Given the description of an element on the screen output the (x, y) to click on. 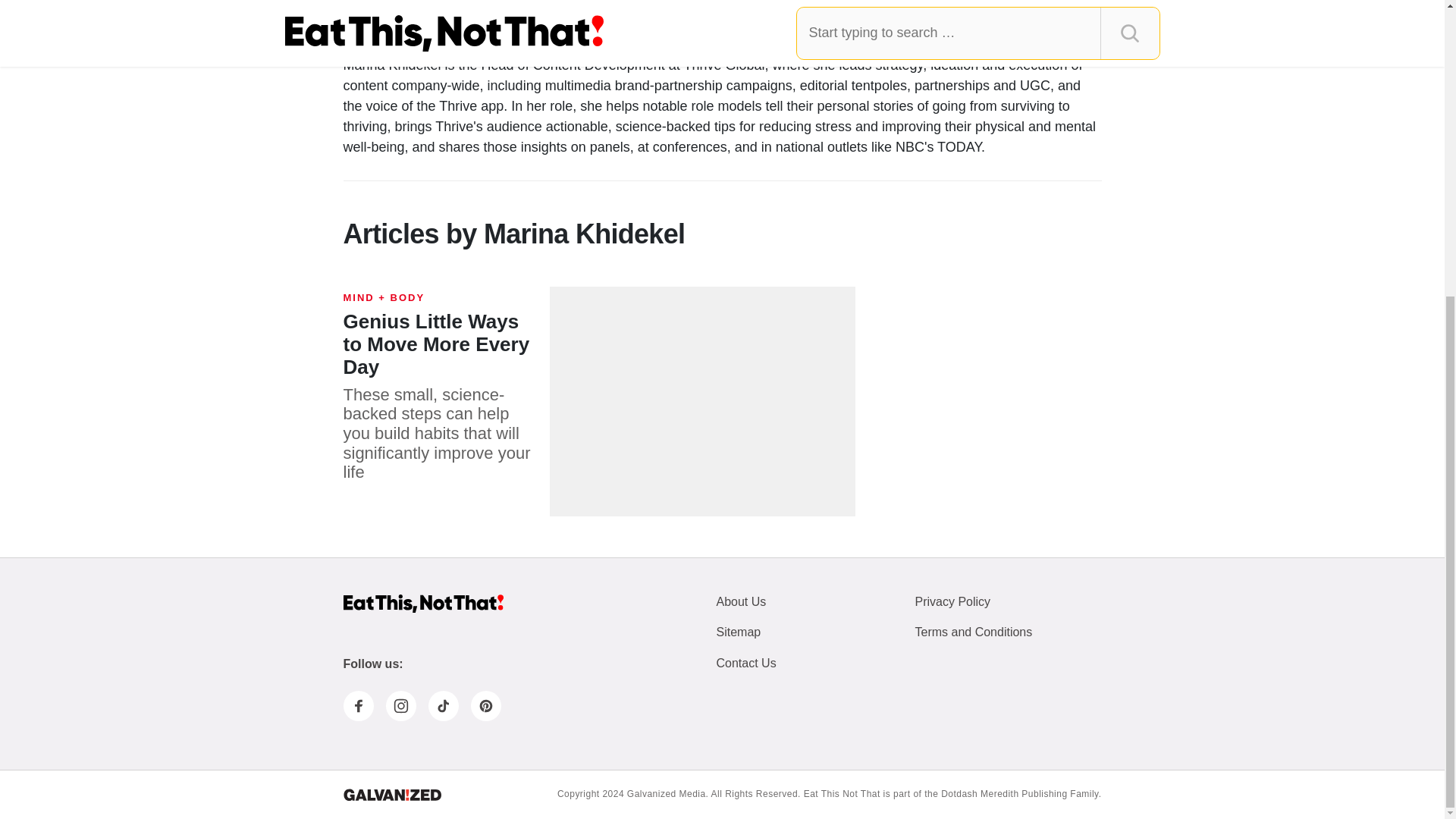
Galvanized Media Logo (391, 794)
Homepage of Eat This Not That (422, 603)
Facebook (357, 706)
TikTok (443, 706)
Genius Little Ways to Move More Every Day (439, 354)
Pinterest (485, 706)
About Us (740, 602)
Instagram (399, 706)
